Given the description of an element on the screen output the (x, y) to click on. 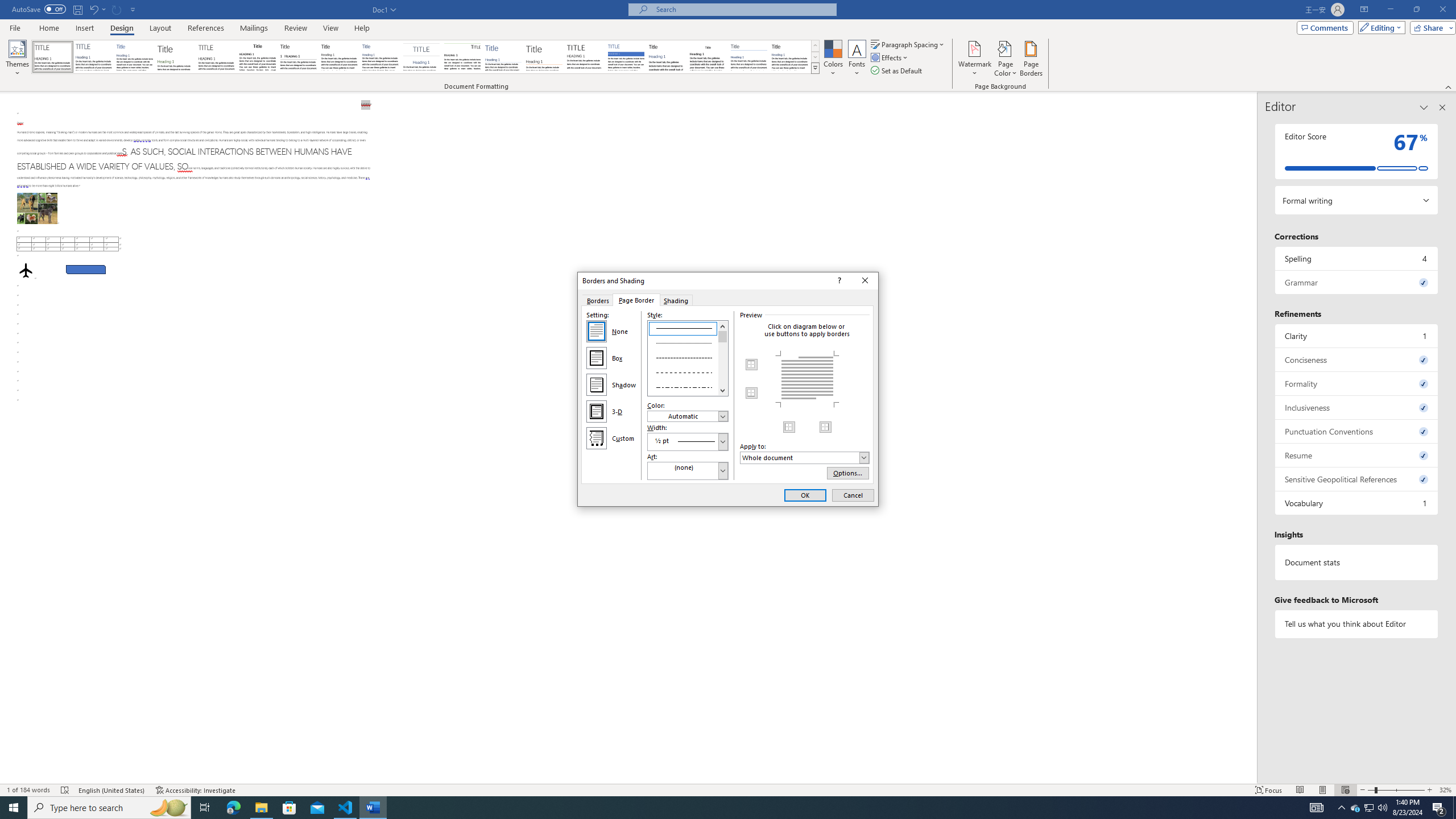
Editing (1379, 27)
Page Border (635, 299)
Page down (722, 363)
Black & White (Classic) (257, 56)
Lines (Simple) (503, 56)
Shadow (596, 384)
File Explorer - 1 running window (261, 807)
Conciseness, 0 issues. Press space or enter to review items. (1356, 359)
Line up (722, 325)
Q2790: 100% (1382, 807)
